Given the description of an element on the screen output the (x, y) to click on. 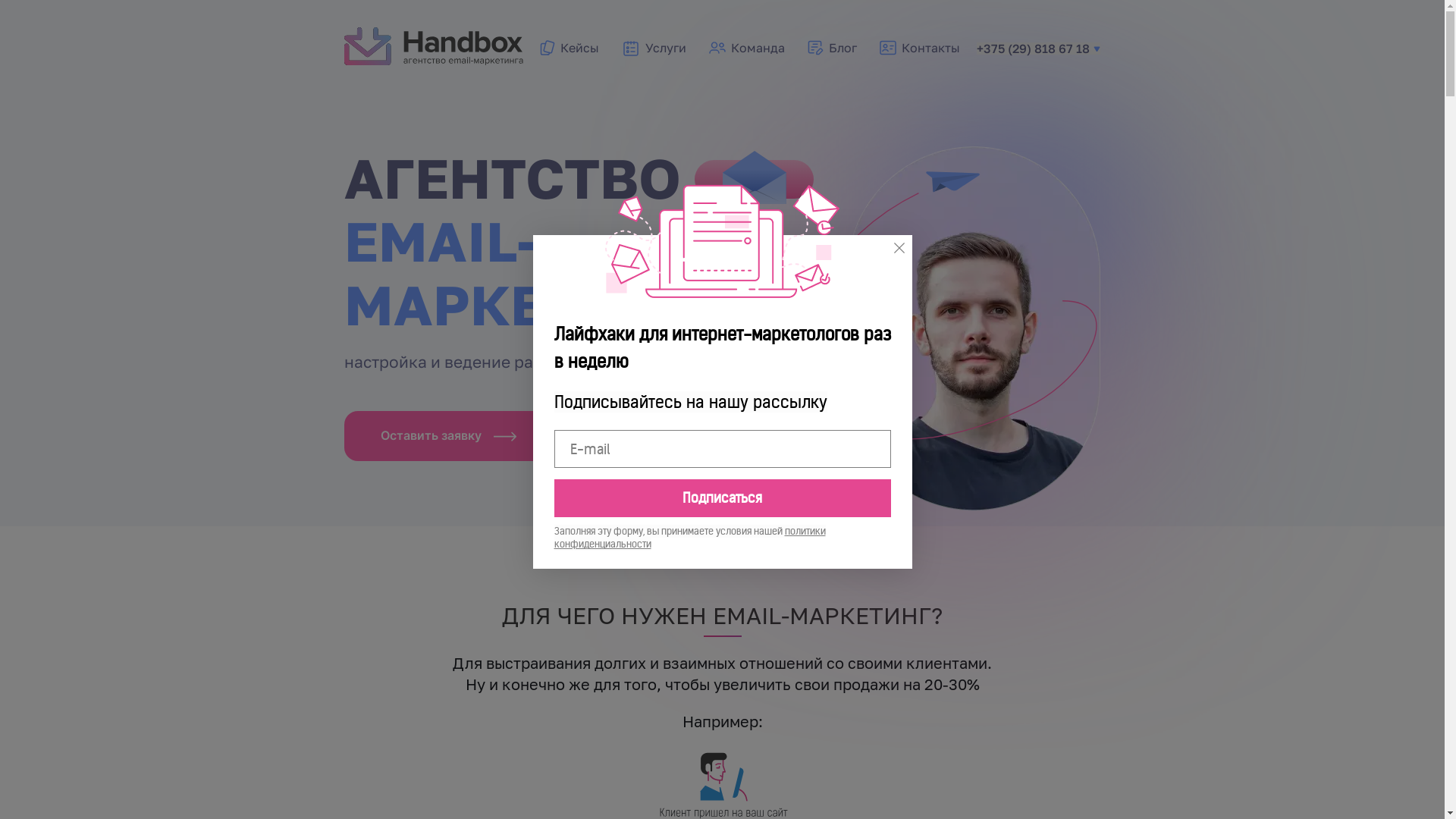
+375 (29) 818 67 18 Element type: text (1038, 48)
